Given the description of an element on the screen output the (x, y) to click on. 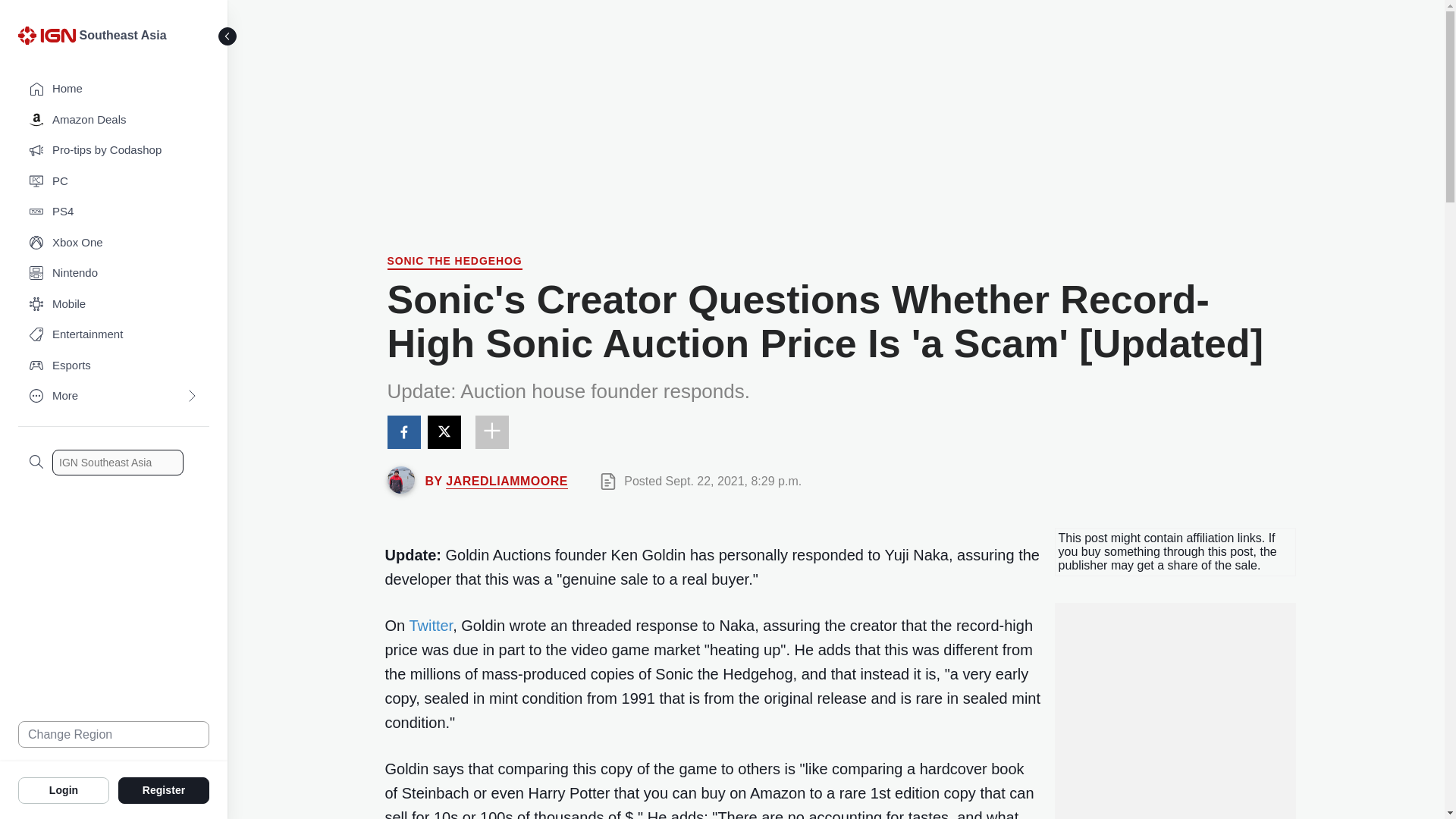
Xbox One (113, 242)
Entertainment (113, 334)
SONIC THE HEDGEHOG (454, 262)
Pro-tips by Codashop (113, 150)
Mobile (113, 304)
IGN Logo (46, 34)
PC (113, 181)
Toggle Sidebar (226, 36)
IGN Logo (48, 39)
Sonic the Hedgehog (454, 262)
PS4 (113, 211)
Register (163, 789)
Home (113, 89)
JAREDLIAMMOORE (506, 481)
More (113, 396)
